Given the description of an element on the screen output the (x, y) to click on. 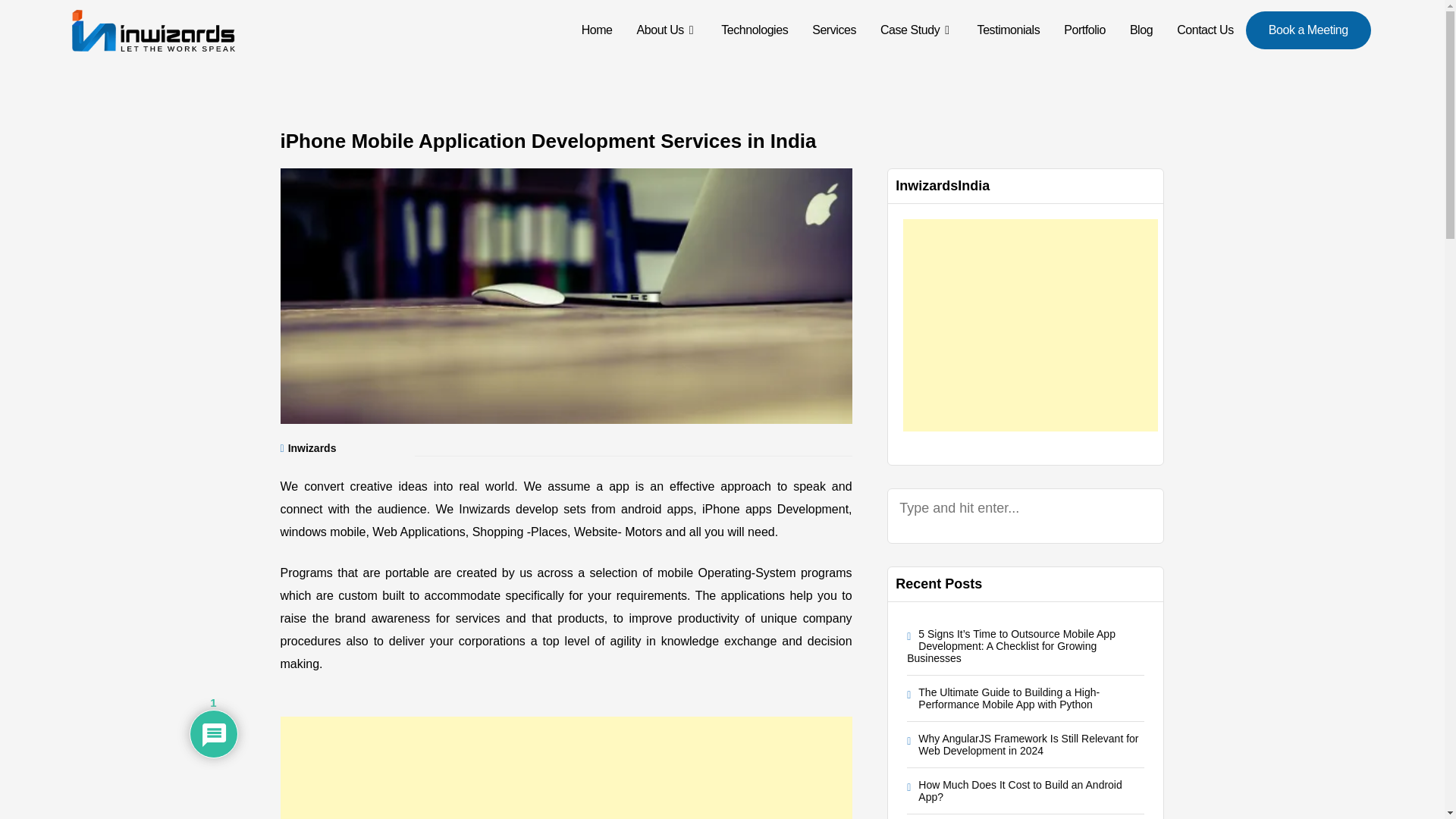
Home (596, 30)
Portfolio (1084, 30)
Technologies (754, 30)
Contact Us (1205, 30)
Book a Meeting (1308, 30)
Blog (1141, 30)
Case Study (916, 30)
Services (833, 30)
Inwizards (312, 448)
Testimonials (1008, 30)
